Given the description of an element on the screen output the (x, y) to click on. 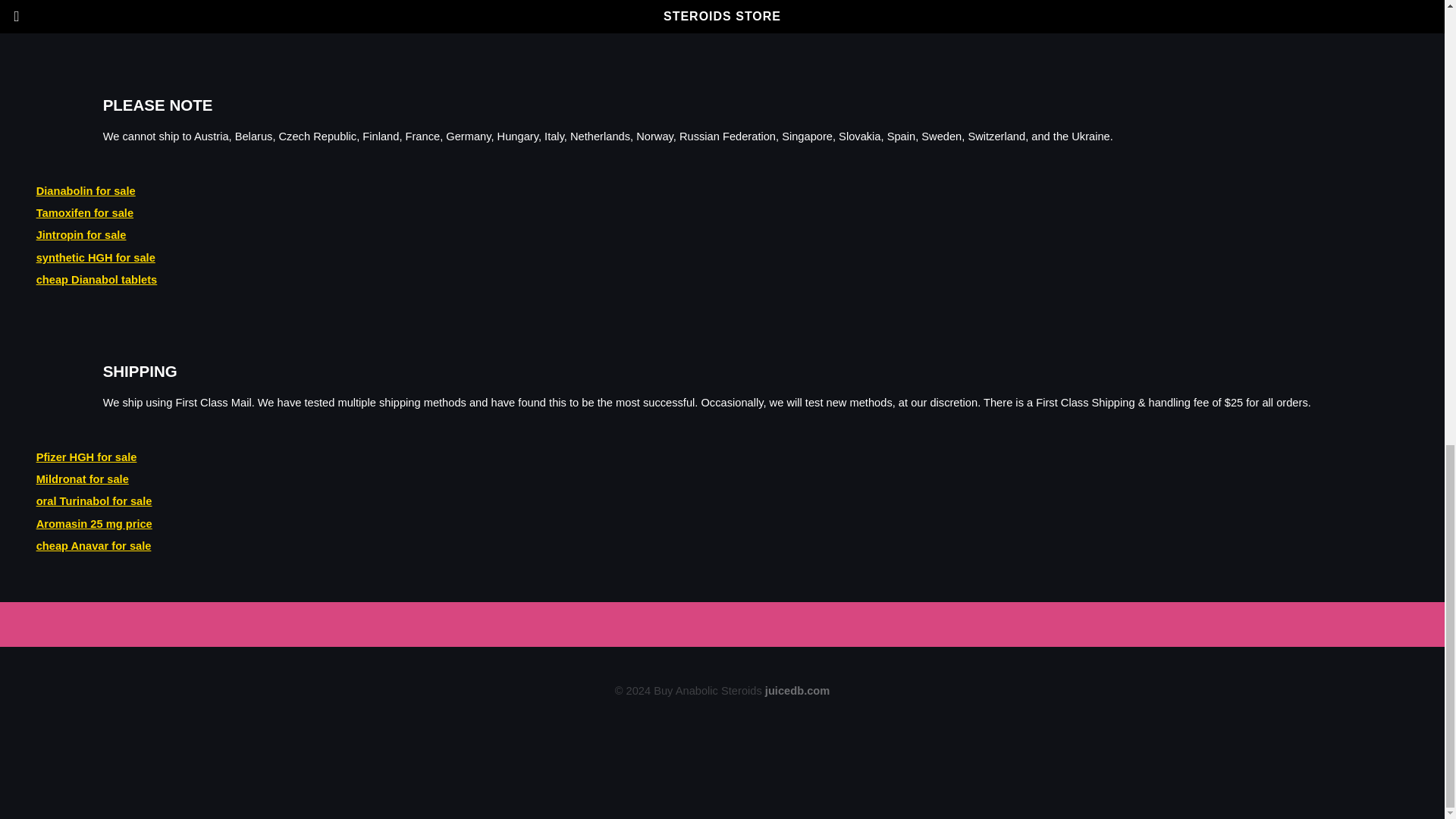
Dianabolin for sale (85, 191)
Jintropin for sale (81, 234)
Tamoxifen for sale (84, 213)
synthetic HGH for sale (95, 257)
oral Turinabol for sale (94, 500)
cheap Dianabol tablets (96, 279)
Mildronat for sale (82, 479)
cheap Anavar for sale (93, 545)
Aromasin 25 mg price (94, 523)
Pfizer HGH for sale (86, 457)
juicedb.com (797, 690)
